Given the description of an element on the screen output the (x, y) to click on. 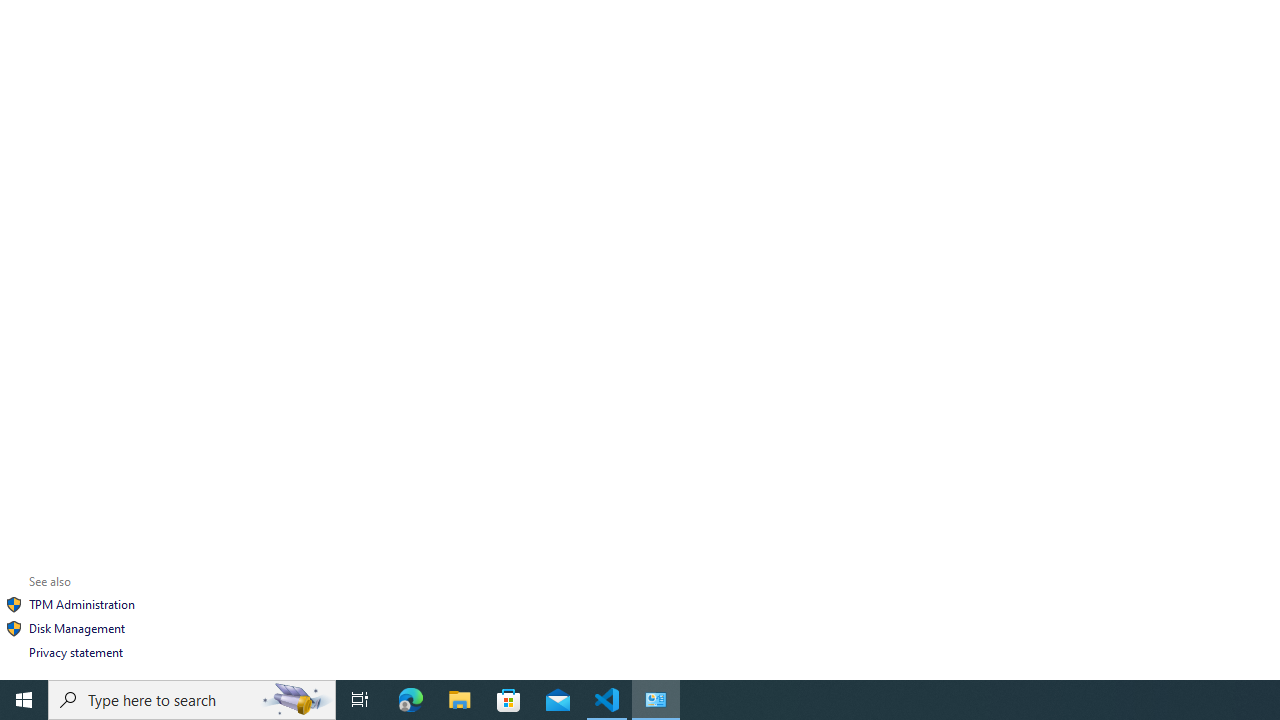
Icon (13, 628)
Privacy statement (75, 652)
Task View (359, 699)
Start (24, 699)
Microsoft Store (509, 699)
Search highlights icon opens search home window (295, 699)
Type here to search (191, 699)
Microsoft Edge (411, 699)
File Explorer (460, 699)
Visual Studio Code - 1 running window (607, 699)
Control Panel - 1 running window (656, 699)
TPM Administration (81, 604)
Disk Management (76, 627)
